Given the description of an element on the screen output the (x, y) to click on. 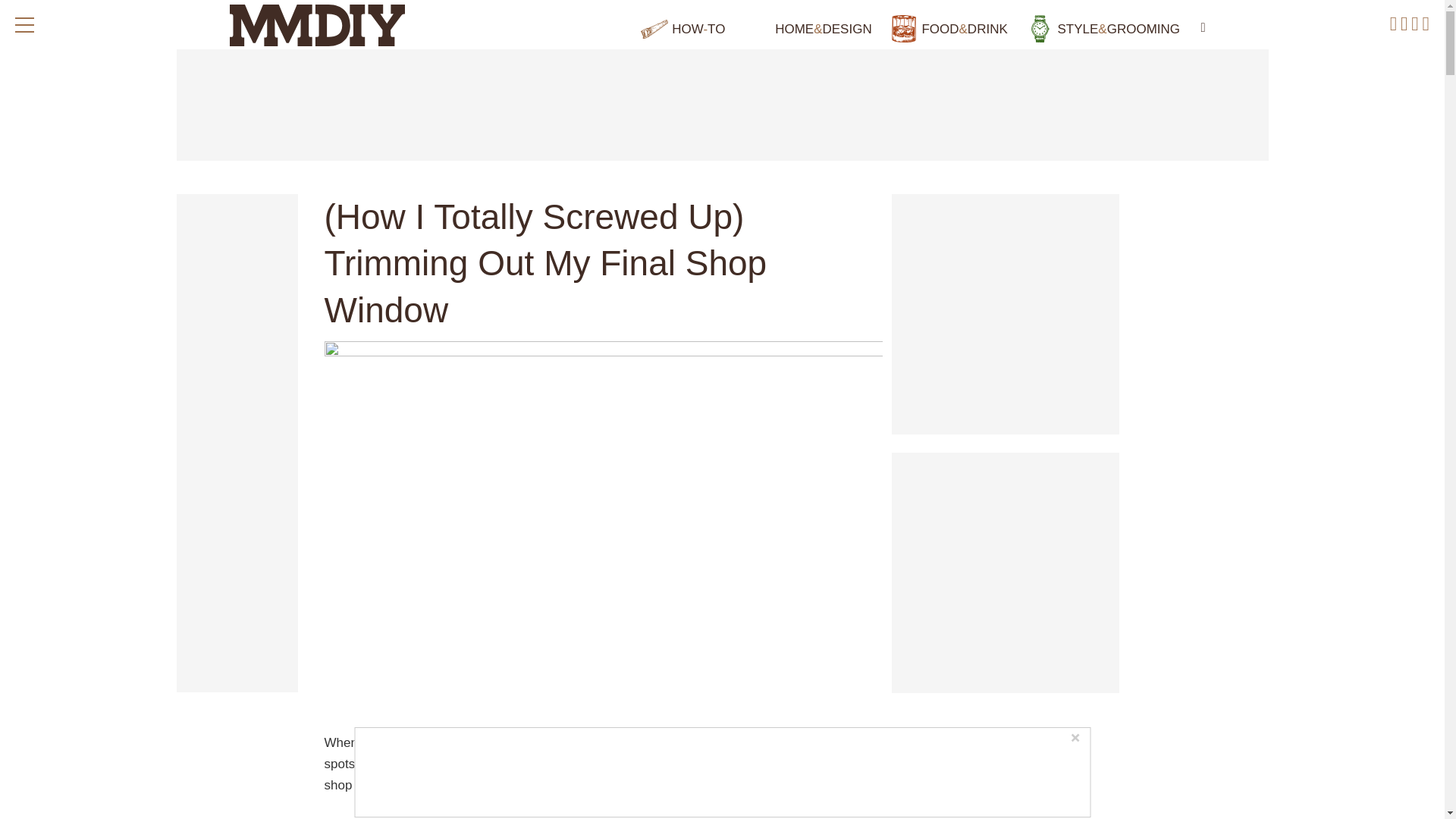
HOW-TO (682, 28)
